Given the description of an element on the screen output the (x, y) to click on. 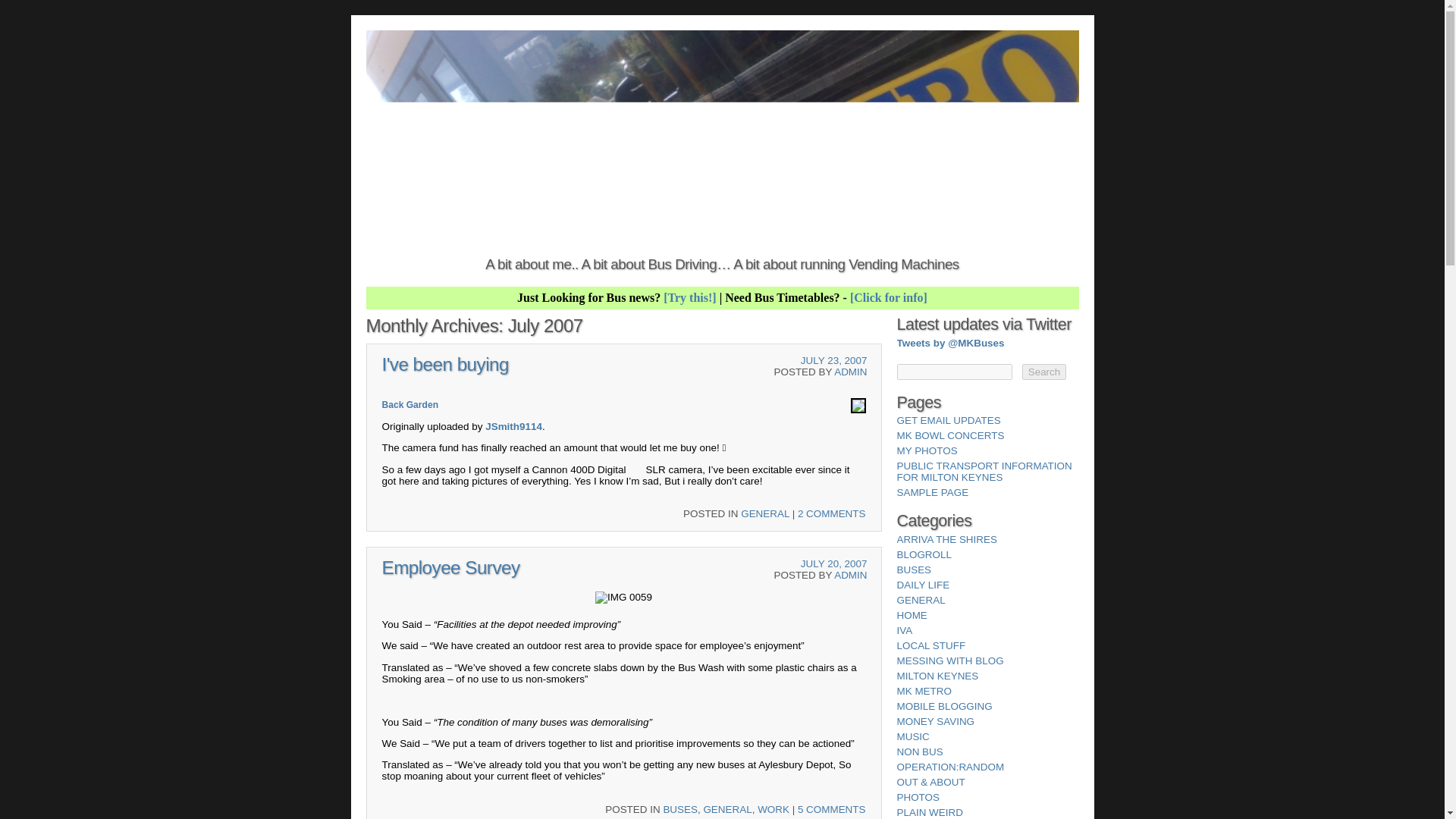
View all posts by admin (850, 371)
ADMIN (850, 574)
GENERAL (727, 808)
Permalink to Employee Survey (450, 567)
View all posts by admin (850, 574)
Back Garden (410, 404)
Search (1043, 371)
JULY 20, 2007 (833, 563)
Permalink to I've been buying (444, 363)
2 COMMENTS (831, 513)
